Given the description of an element on the screen output the (x, y) to click on. 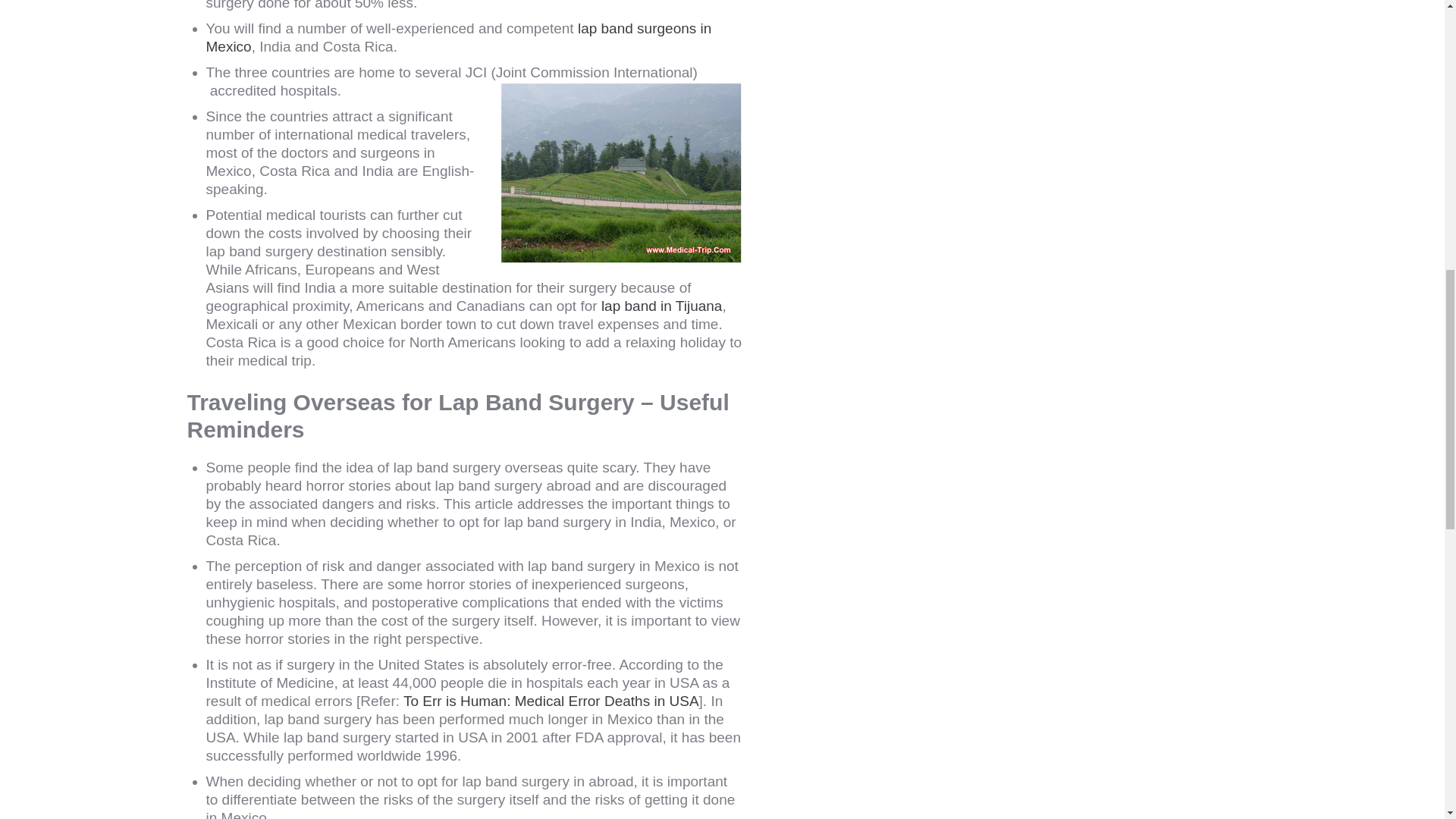
Lap band in Tijuana (661, 305)
To Err is Human: Medical Error Deaths in USA (550, 700)
lap band surgeons in Mexico (458, 37)
lap band in Tijuana (661, 305)
Lap band surgeons in Mexico (458, 37)
To Err is Human: Medical Error Deaths in USA (550, 700)
